Given the description of an element on the screen output the (x, y) to click on. 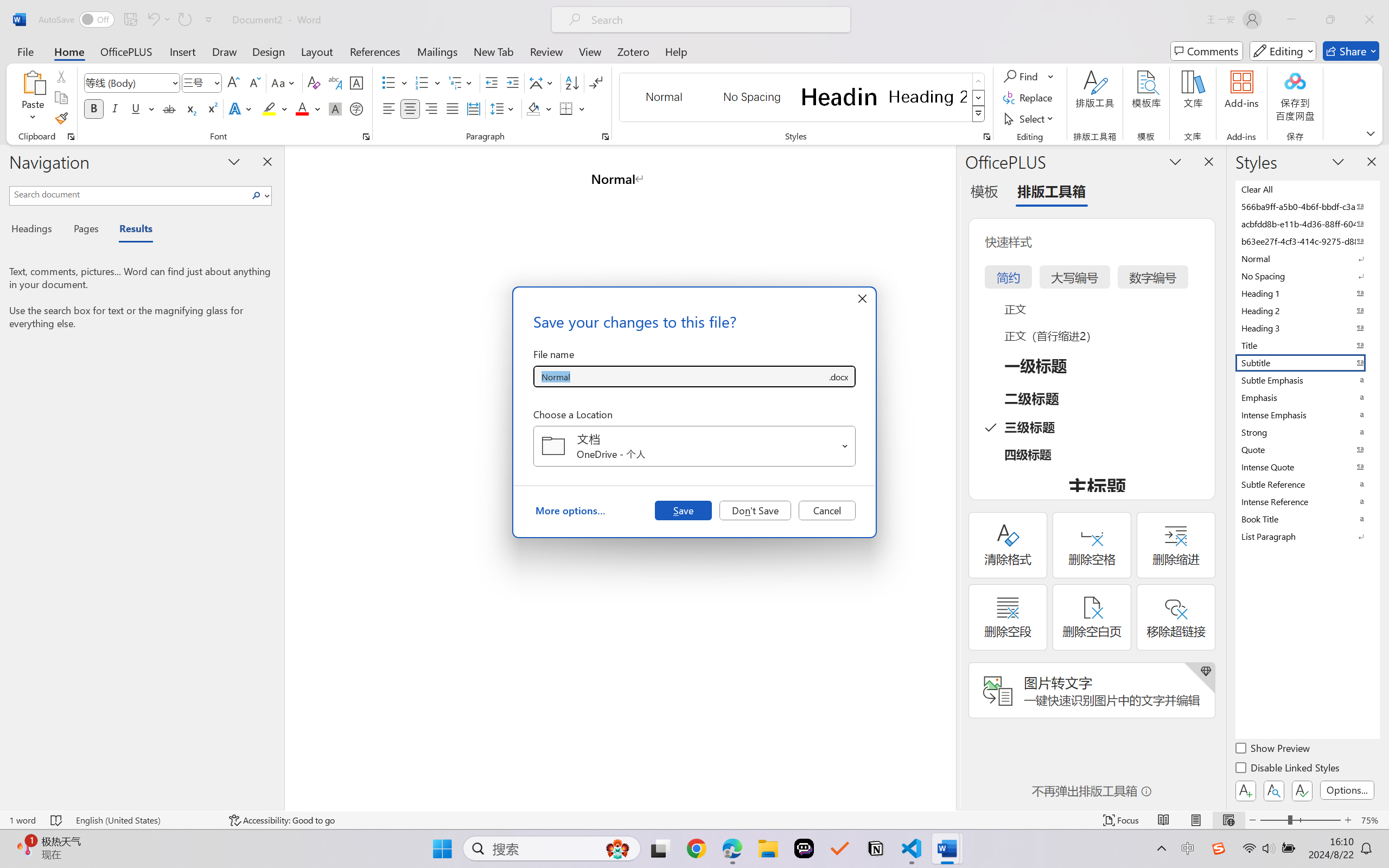
Shrink Font (253, 82)
Pages (85, 229)
Font (126, 82)
Font (132, 82)
Line and Paragraph Spacing (503, 108)
Repeat Style (184, 19)
Enclose Characters... (356, 108)
Cut (60, 75)
Font Size (196, 82)
